Given the description of an element on the screen output the (x, y) to click on. 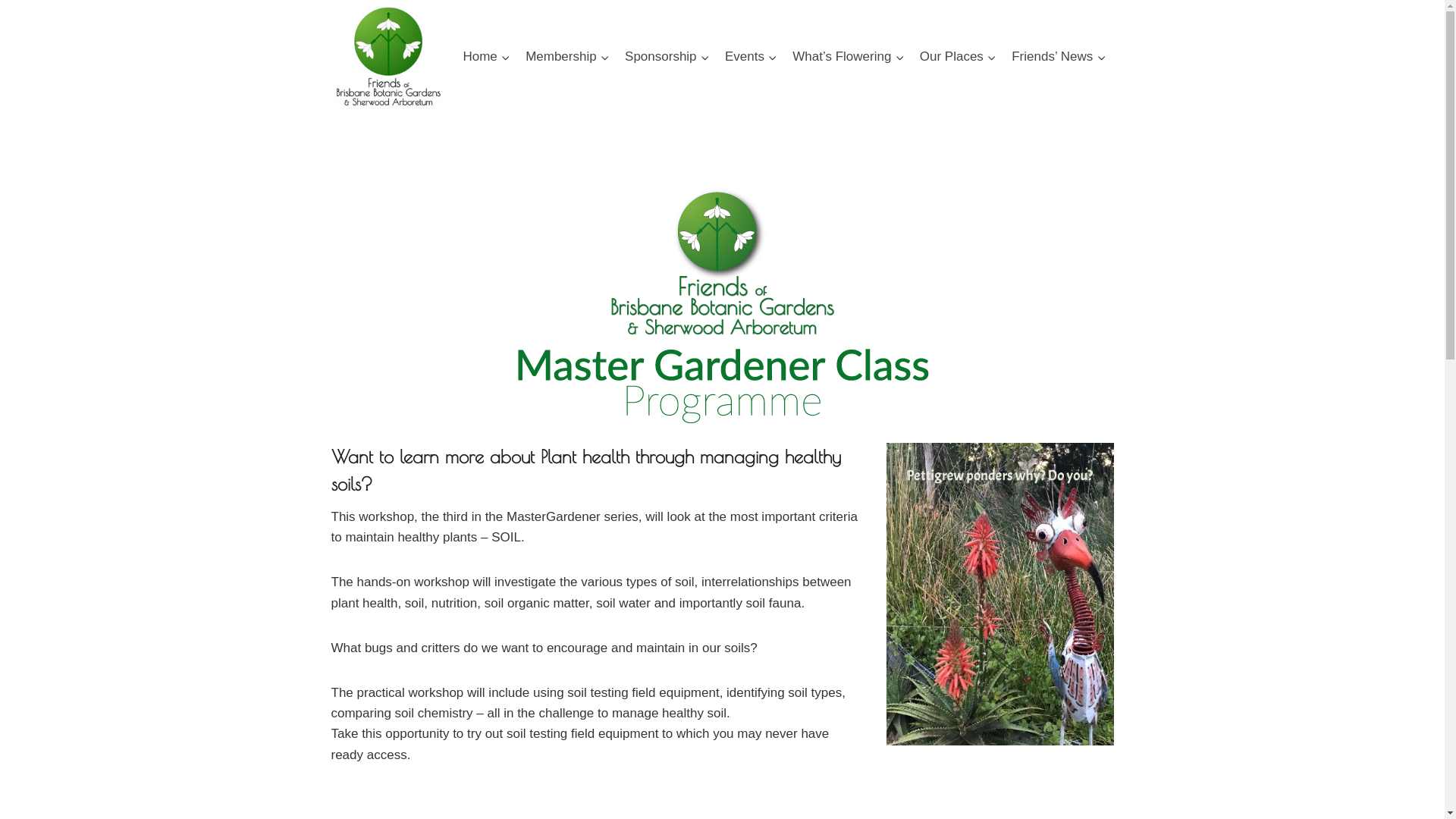
Events Element type: text (750, 56)
Home Element type: text (486, 56)
Our Places Element type: text (958, 56)
Sponsorship Element type: text (667, 56)
Membership Element type: text (567, 56)
